Given the description of an element on the screen output the (x, y) to click on. 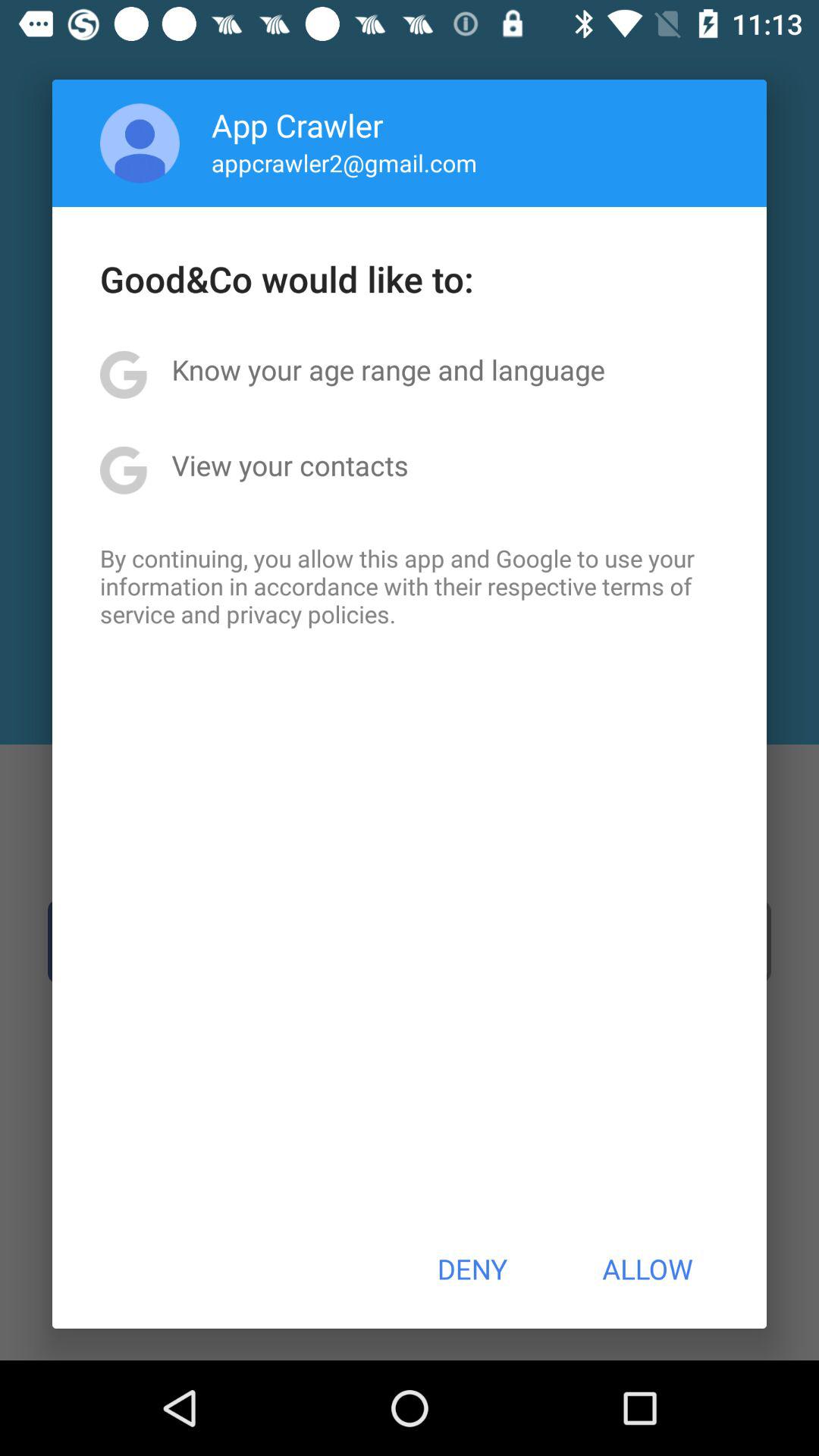
turn off the item at the bottom (471, 1268)
